Given the description of an element on the screen output the (x, y) to click on. 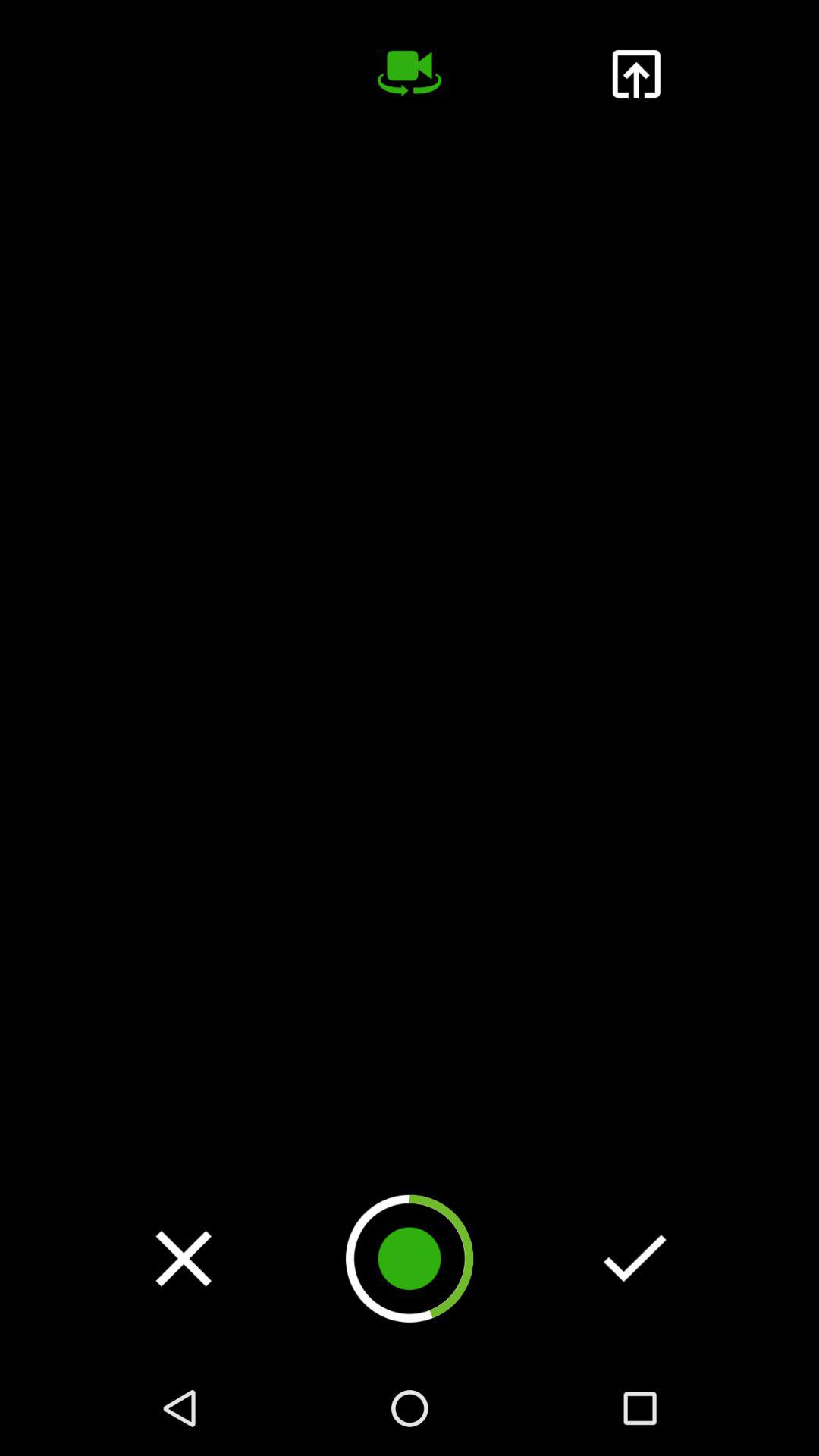
ok done (634, 1258)
